Given the description of an element on the screen output the (x, y) to click on. 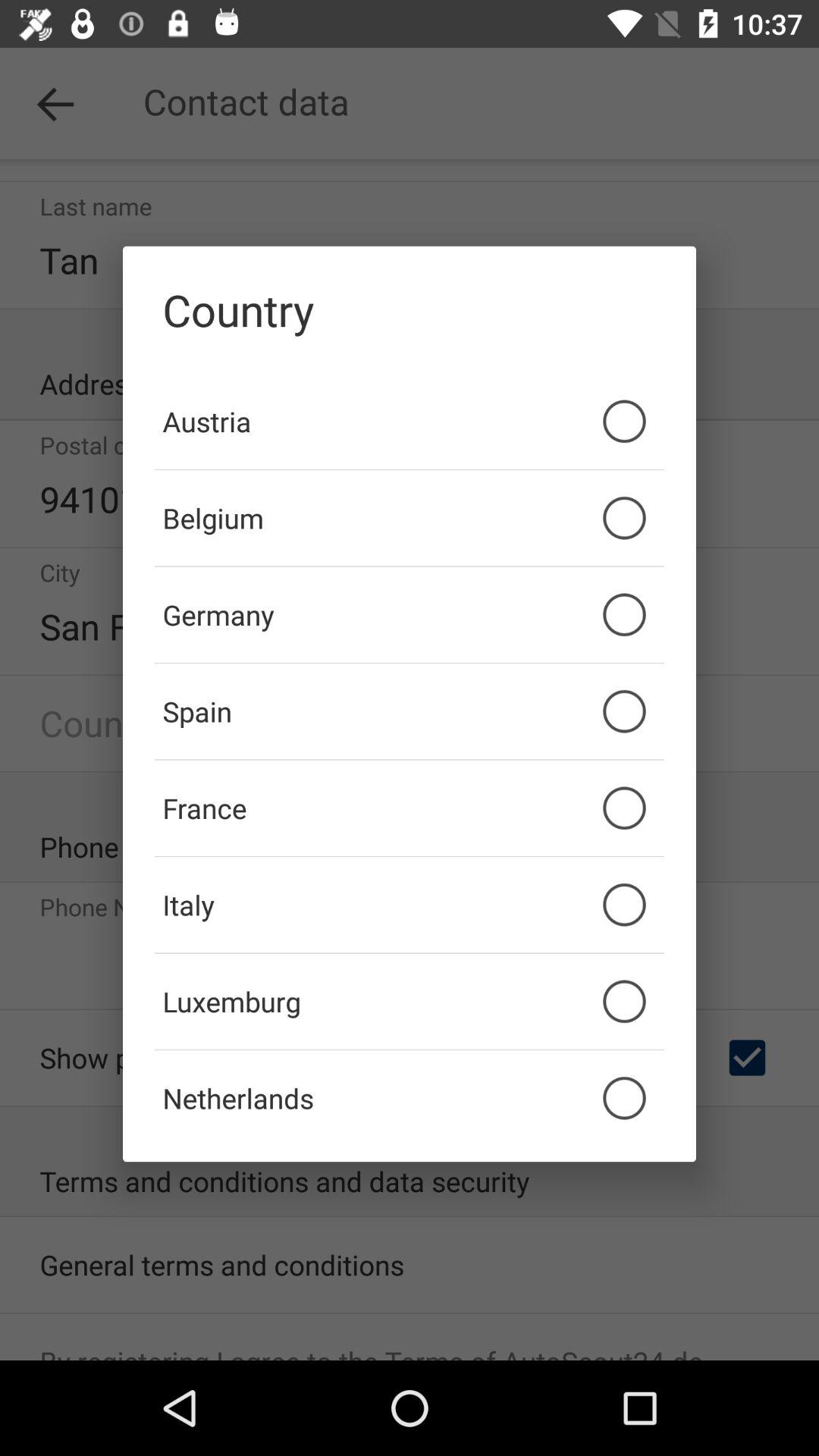
swipe to the luxemburg icon (409, 1001)
